Given the description of an element on the screen output the (x, y) to click on. 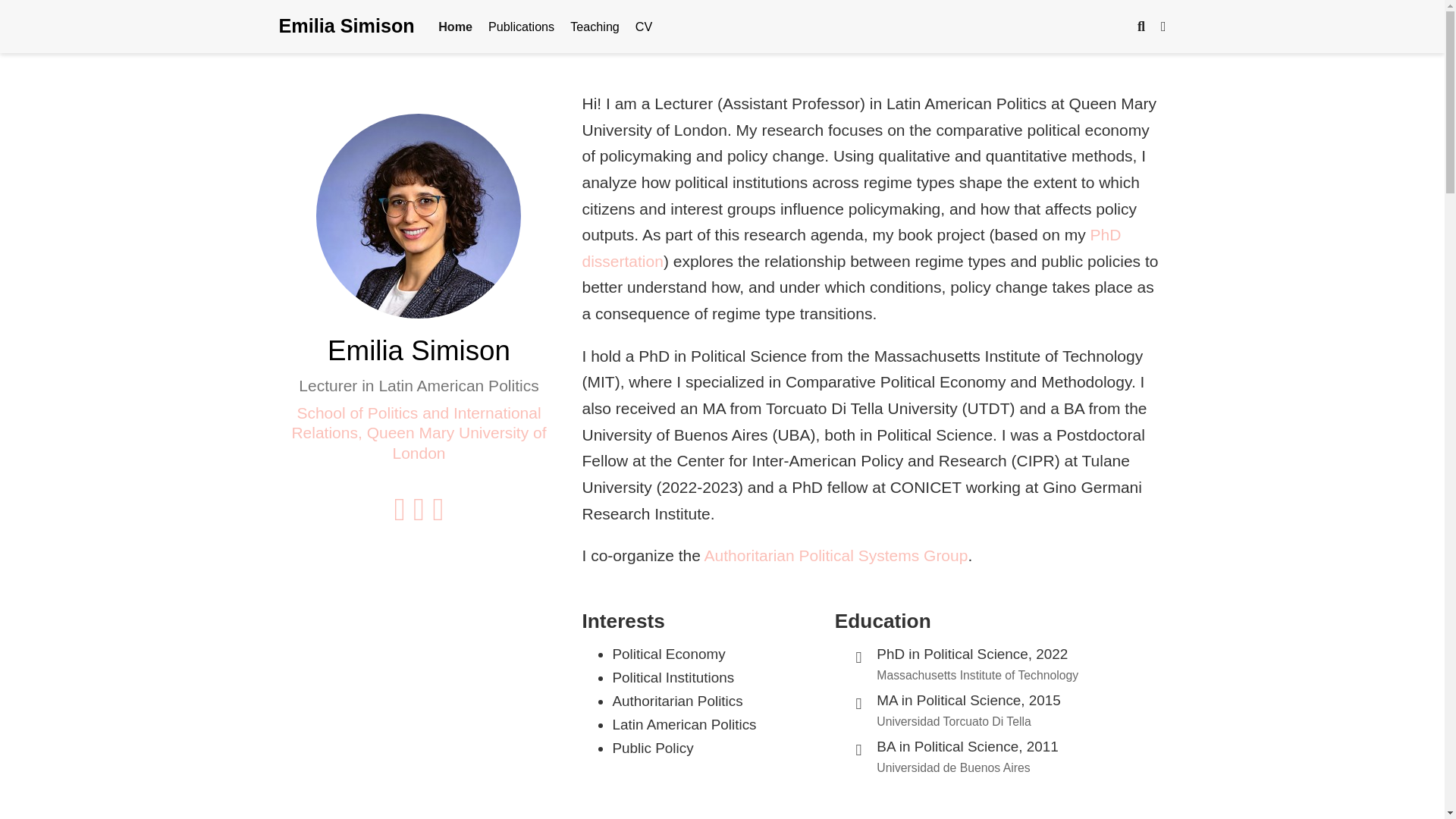
CV (643, 25)
Emilia Simison (346, 26)
Publications (521, 25)
PhD dissertation (850, 248)
Authoritarian Political Systems Group (836, 555)
Home (455, 25)
Teaching (594, 25)
